Given the description of an element on the screen output the (x, y) to click on. 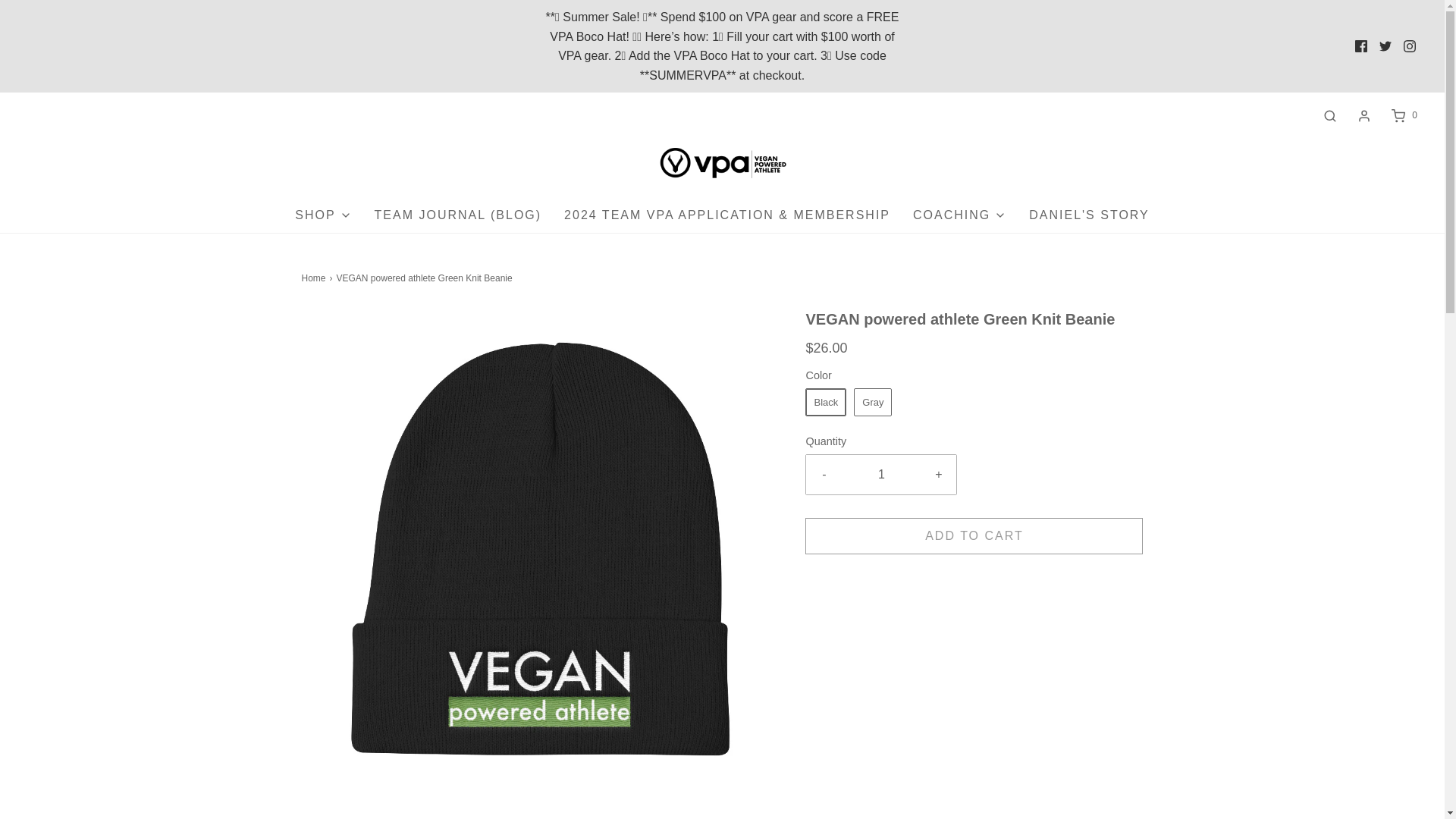
DANIEL'S STORY (1089, 215)
COACHING (959, 215)
Back to the frontpage (315, 278)
SHOP (322, 215)
Instagram icon (1409, 46)
Log in (1364, 115)
1 (881, 474)
Instagram icon (1409, 46)
Search (1329, 115)
Twitter icon (1385, 46)
Facebook icon (1361, 46)
Cart (1403, 115)
0 (1403, 115)
Twitter icon (1384, 46)
Facebook icon (1361, 46)
